Given the description of an element on the screen output the (x, y) to click on. 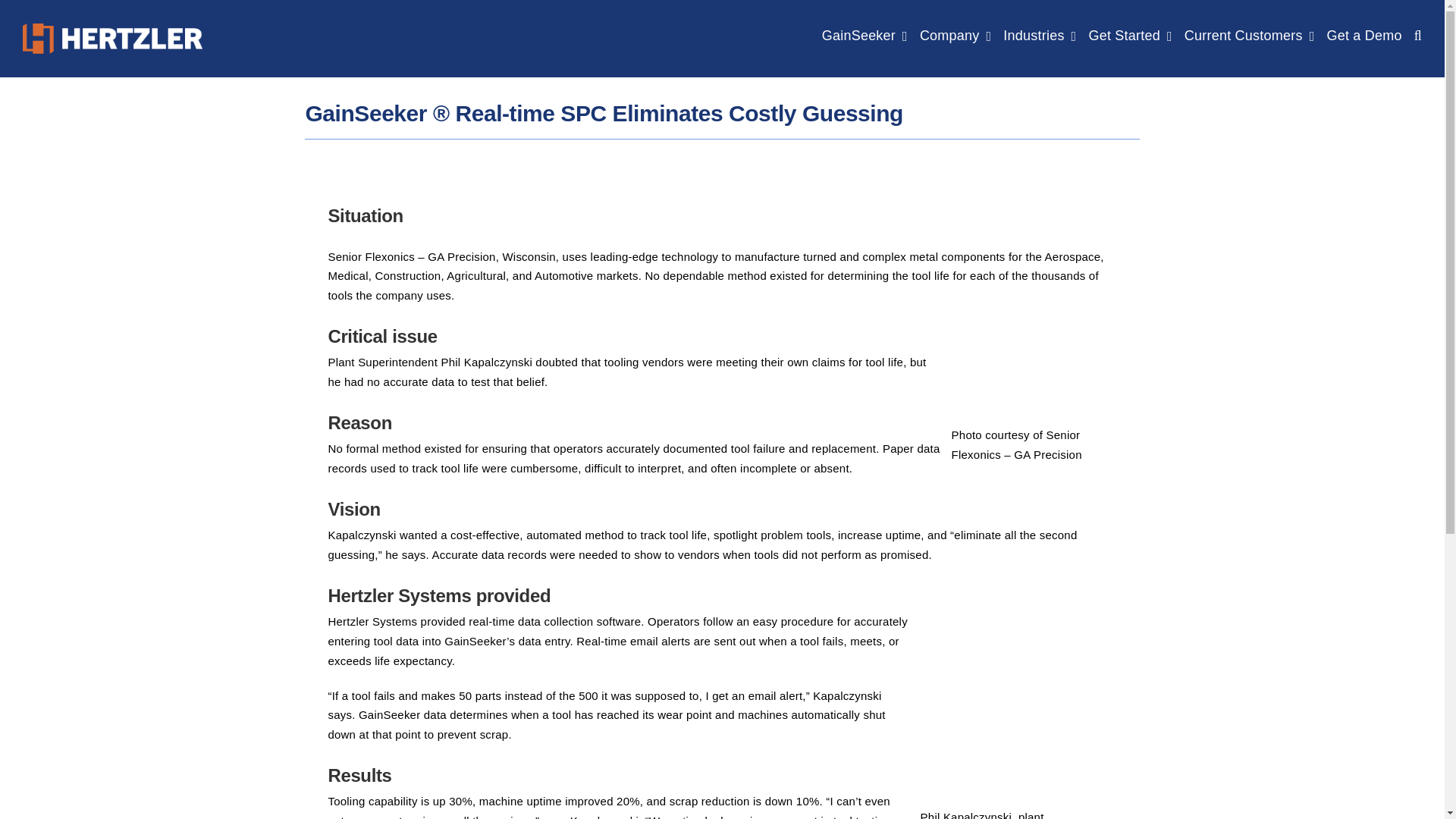
Company (955, 35)
Current Customers (1249, 35)
Get a Demo (1363, 35)
Get Started (1129, 35)
GainSeeker (864, 35)
Industries (1039, 35)
